Given the description of an element on the screen output the (x, y) to click on. 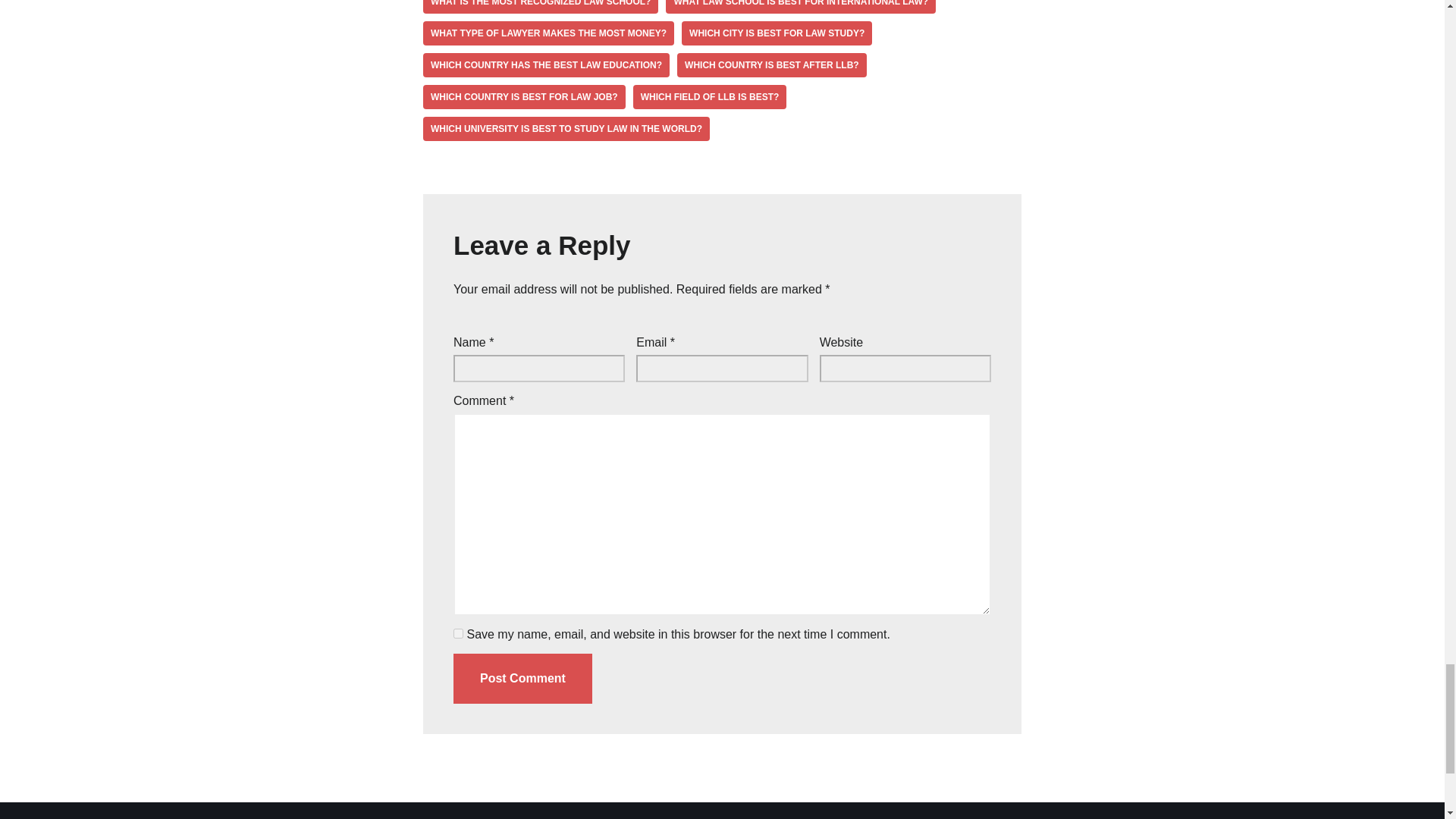
Which city is best for law study? (776, 33)
Which country has the best law education? (546, 64)
WHAT IS THE MOST RECOGNIZED LAW SCHOOL? (540, 6)
WHICH UNIVERSITY IS BEST TO STUDY LAW IN THE WORLD? (566, 128)
WHICH COUNTRY HAS THE BEST LAW EDUCATION? (546, 64)
WHICH COUNTRY IS BEST AFTER LLB? (771, 64)
WHICH CITY IS BEST FOR LAW STUDY? (776, 33)
What law school is best for international law? (800, 6)
WHICH COUNTRY IS BEST FOR LAW JOB? (524, 96)
WHAT LAW SCHOOL IS BEST FOR INTERNATIONAL LAW? (800, 6)
What type of lawyer makes the most money? (548, 33)
WHAT TYPE OF LAWYER MAKES THE MOST MONEY? (548, 33)
Post Comment (522, 678)
WHICH FIELD OF LLB IS BEST? (710, 96)
What is the most recognized law school? (540, 6)
